Given the description of an element on the screen output the (x, y) to click on. 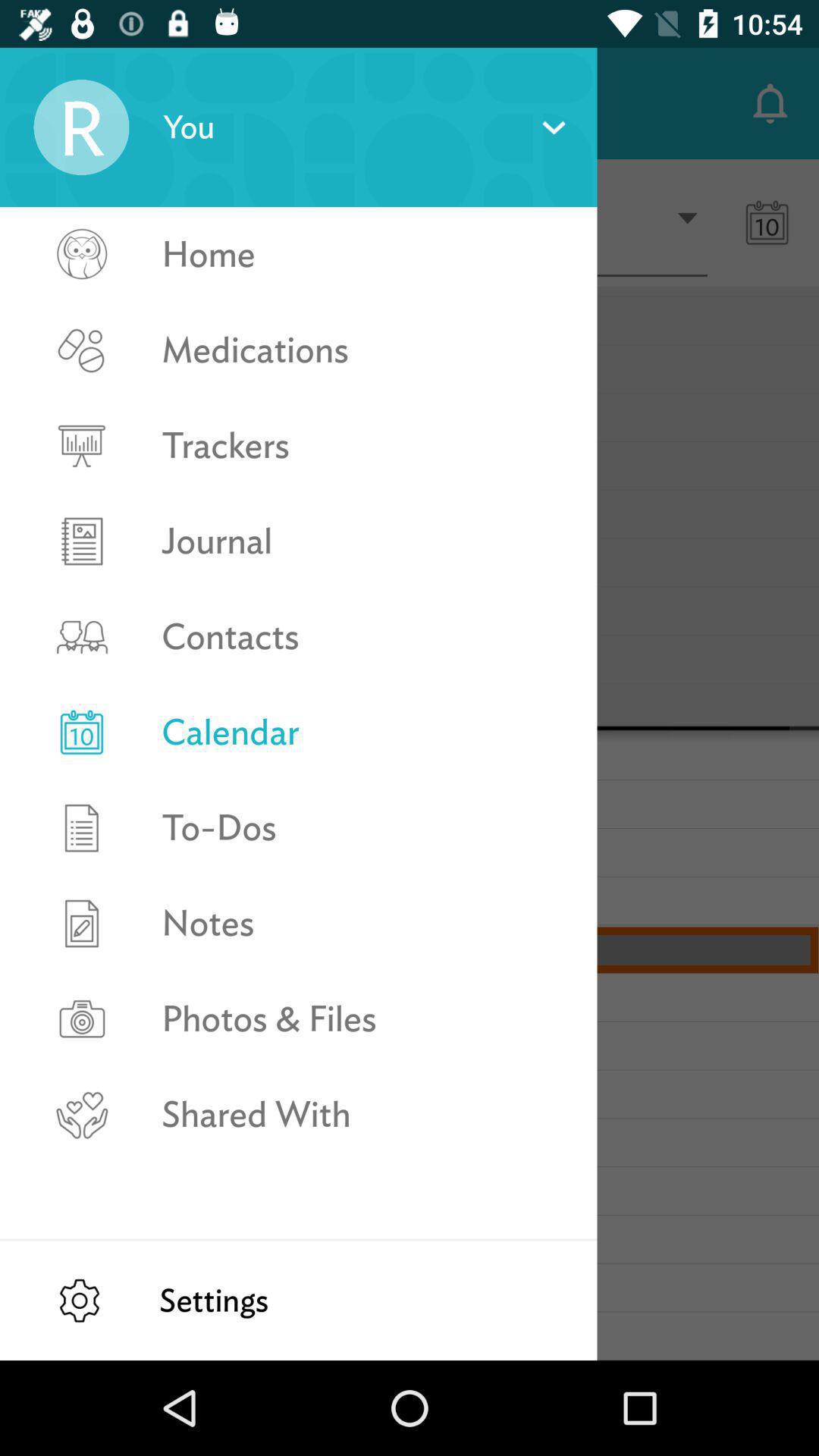
click the icon left to todos (81, 828)
